Given the description of an element on the screen output the (x, y) to click on. 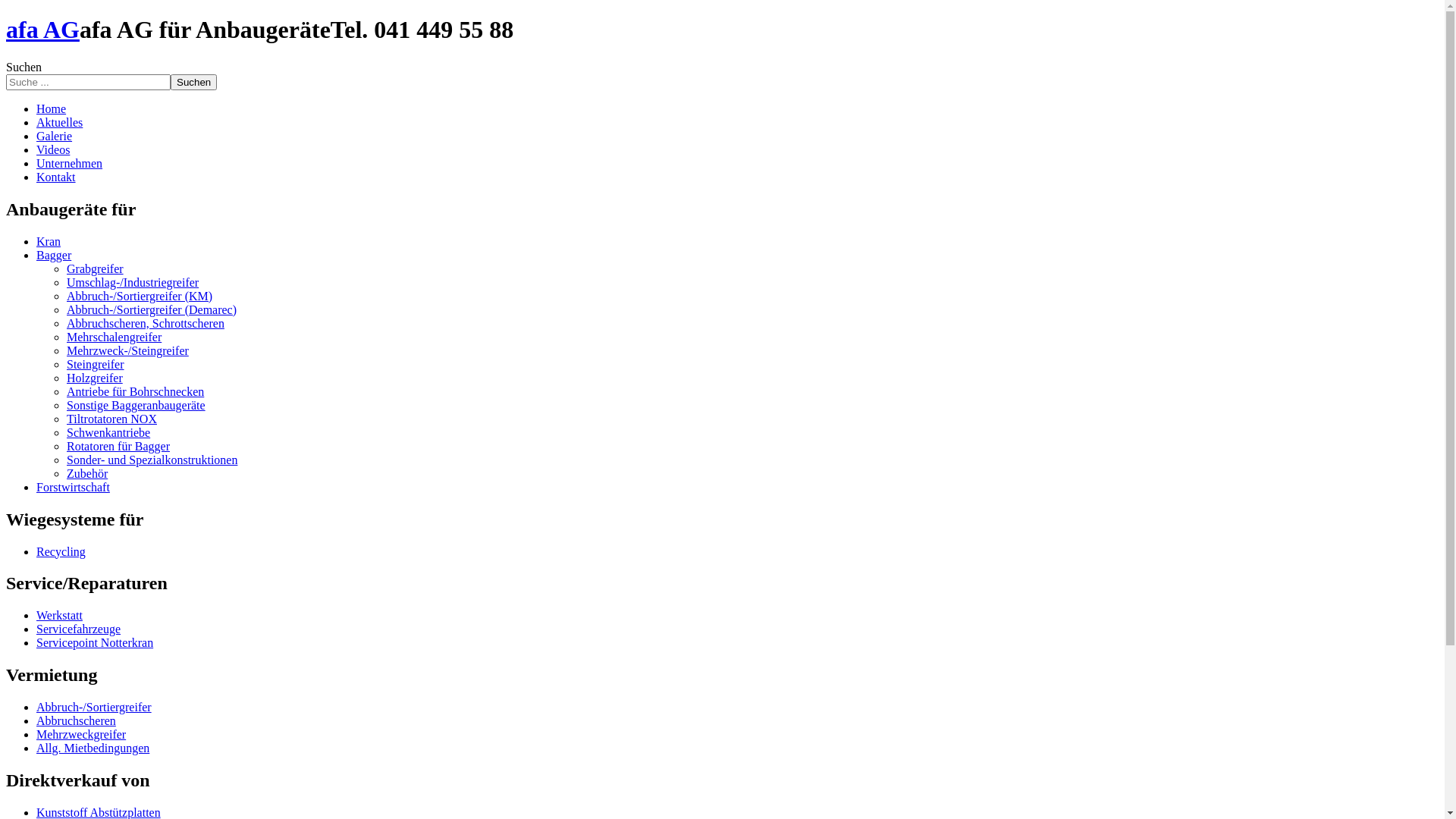
Abbruchscheren Element type: text (76, 720)
Abbruch-/Sortiergreifer Element type: text (93, 706)
Werkstatt Element type: text (59, 614)
Holzgreifer Element type: text (94, 377)
Videos Element type: text (52, 149)
Mehrschalengreifer Element type: text (113, 336)
afa AG Element type: text (42, 29)
Suchen Element type: text (193, 82)
Abbruchscheren, Schrottscheren Element type: text (145, 322)
Tiltrotatoren NOX Element type: text (111, 418)
Servicefahrzeuge Element type: text (78, 628)
Sonder- und Spezialkonstruktionen Element type: text (151, 459)
Recycling Element type: text (60, 550)
Servicepoint Notterkran Element type: text (94, 642)
Schwenkantriebe Element type: text (108, 432)
Kran Element type: text (48, 241)
Abbruch-/Sortiergreifer (Demarec) Element type: text (151, 309)
Steingreifer Element type: text (95, 363)
Galerie Element type: text (54, 135)
Bagger Element type: text (53, 254)
Mehrzweck-/Steingreifer Element type: text (127, 350)
Allg. Mietbedingungen Element type: text (92, 747)
Forstwirtschaft Element type: text (72, 486)
Grabgreifer Element type: text (94, 268)
Home Element type: text (50, 108)
Umschlag-/Industriegreifer Element type: text (132, 282)
Unternehmen Element type: text (69, 162)
Mehrzweckgreifer Element type: text (80, 734)
Kontakt Element type: text (55, 176)
Aktuelles Element type: text (59, 122)
Abbruch-/Sortiergreifer (KM) Element type: text (139, 295)
